Given the description of an element on the screen output the (x, y) to click on. 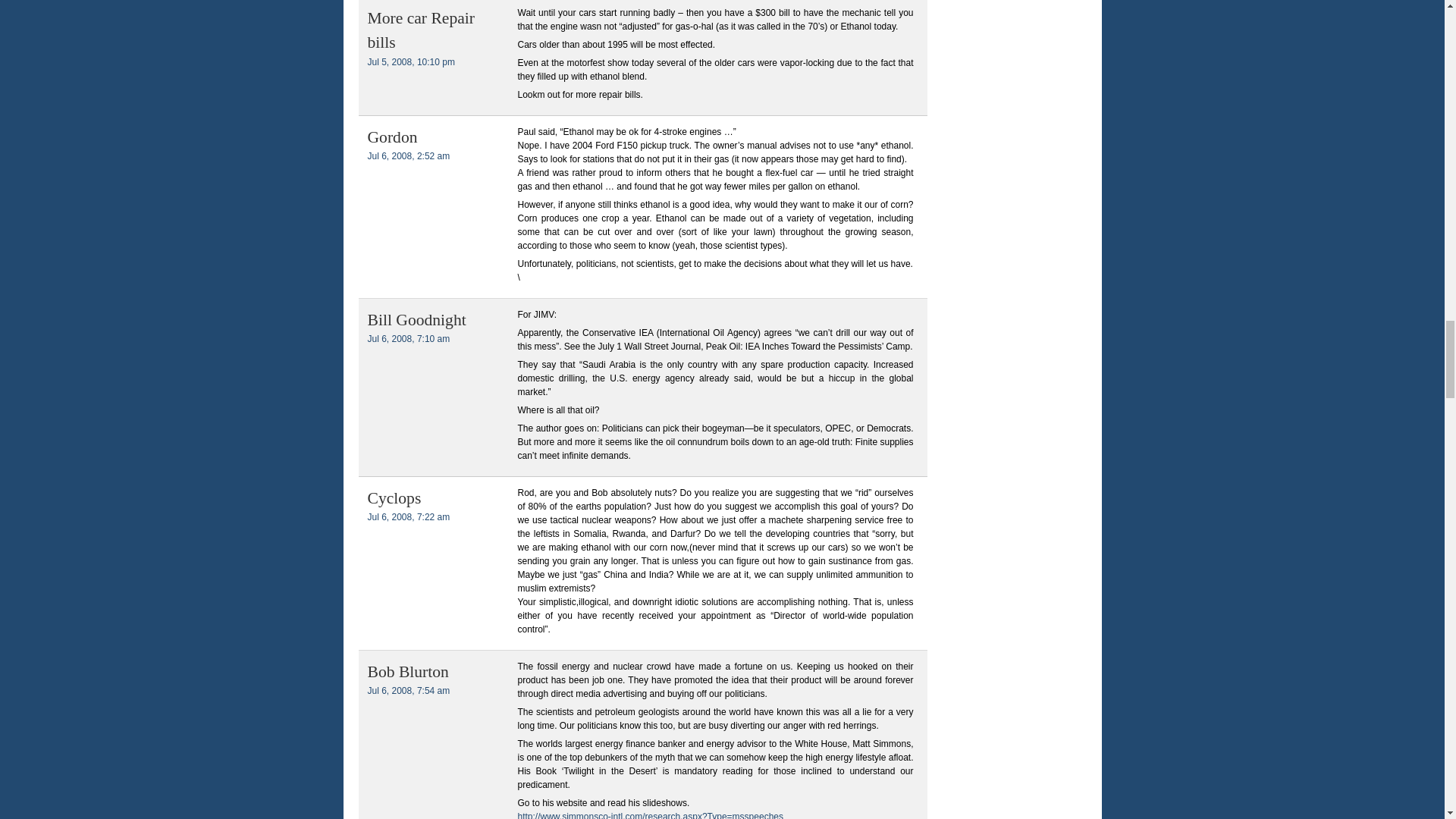
Jul 6, 2008, 7:22 am (407, 516)
Jul 5, 2008, 10:10 pm (410, 61)
Jul 6, 2008, 2:52 am (407, 155)
Jul 6, 2008, 7:10 am (407, 338)
Jul 6, 2008, 7:54 am (407, 690)
